Given the description of an element on the screen output the (x, y) to click on. 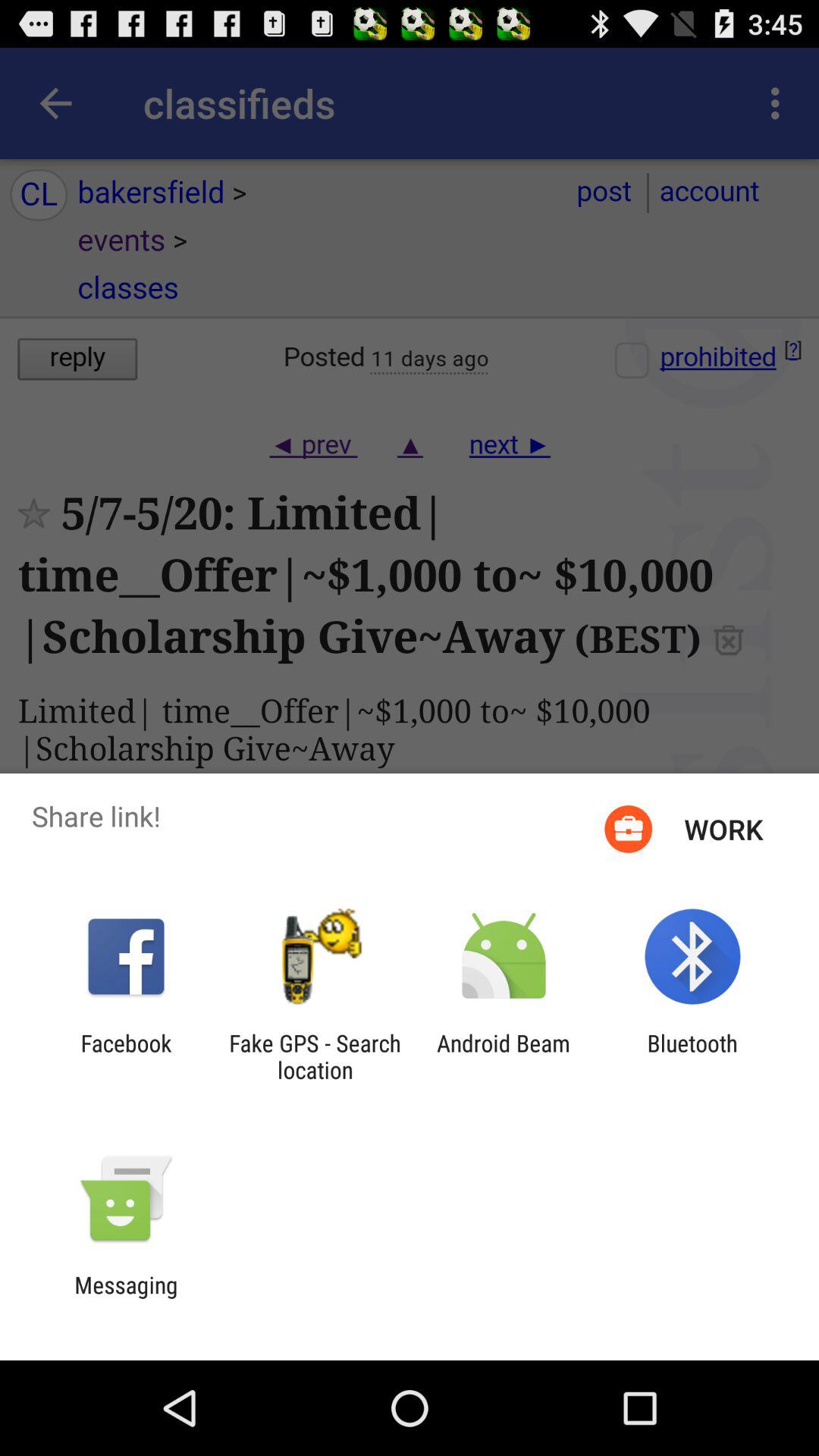
turn on the item at the bottom right corner (692, 1056)
